Given the description of an element on the screen output the (x, y) to click on. 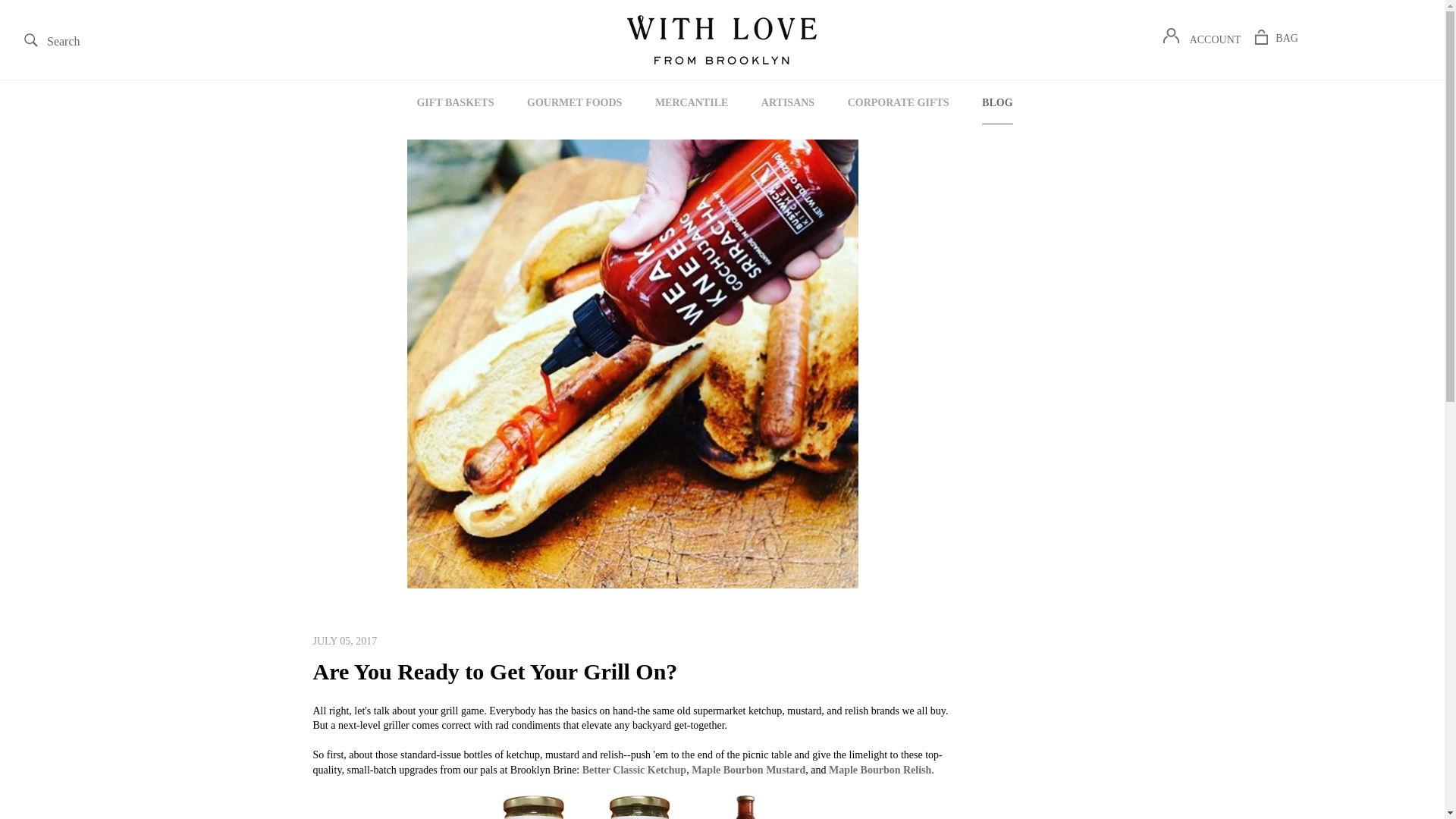
Better Classic Ketchup (633, 769)
MERCANTILE (50, 40)
Brooklyn Brine Ketchup (691, 102)
ACCOUNT (633, 769)
Brooklyn Brine (1215, 39)
GOURMET FOODS (632, 805)
BLOG (574, 102)
ARTISANS (1276, 38)
